Given the description of an element on the screen output the (x, y) to click on. 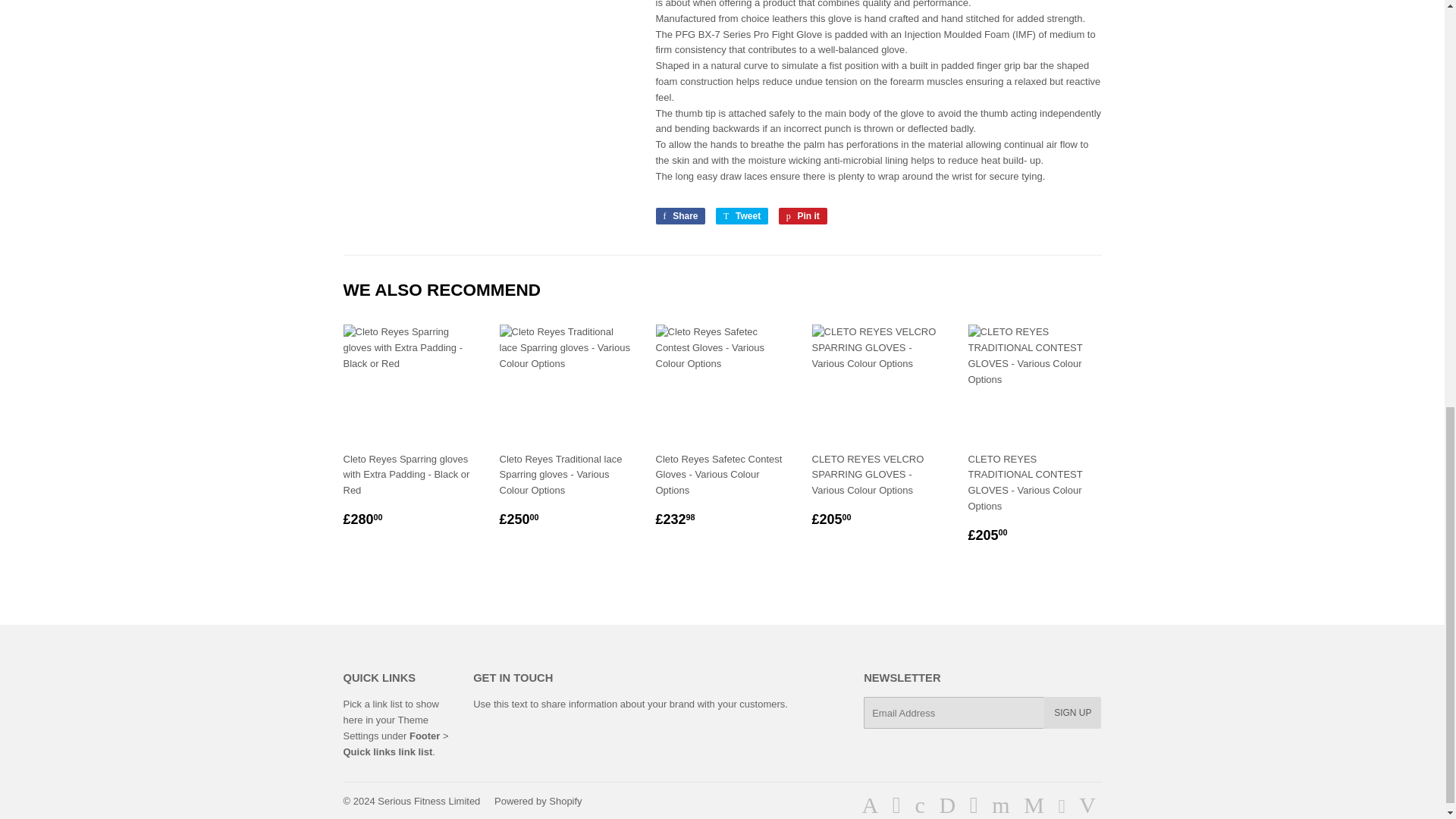
Serious Fitness Limited (742, 216)
Pin on Pinterest (428, 800)
Tweet on Twitter (802, 216)
Powered by Shopify (742, 216)
SIGN UP (538, 800)
Theme Settings (1071, 712)
Share on Facebook (385, 728)
